Given the description of an element on the screen output the (x, y) to click on. 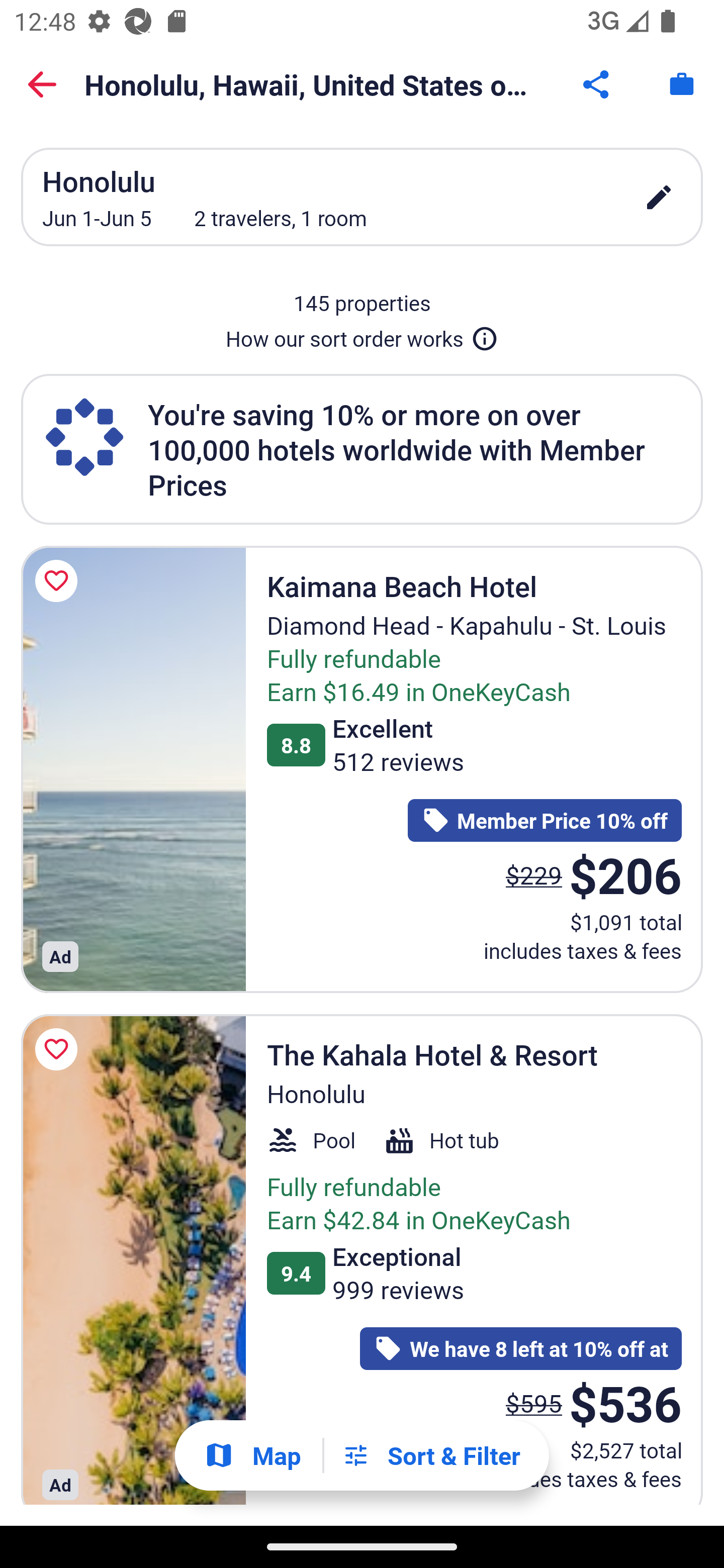
Back (42, 84)
Share Button (597, 84)
Trips. Button (681, 84)
Honolulu Jun 1-Jun 5 2 travelers, 1 room edit (361, 196)
How our sort order works (361, 334)
Save Kaimana Beach Hotel to a trip (59, 580)
Kaimana Beach Hotel (133, 768)
$229 The price was $229 (533, 874)
Save The Kahala Hotel & Resort to a trip (59, 1048)
The Kahala Hotel & Resort (133, 1259)
$595 The price was $595 (533, 1403)
Filters Sort & Filter Filters Button (430, 1455)
Show map Map Show map Button (252, 1455)
